Given the description of an element on the screen output the (x, y) to click on. 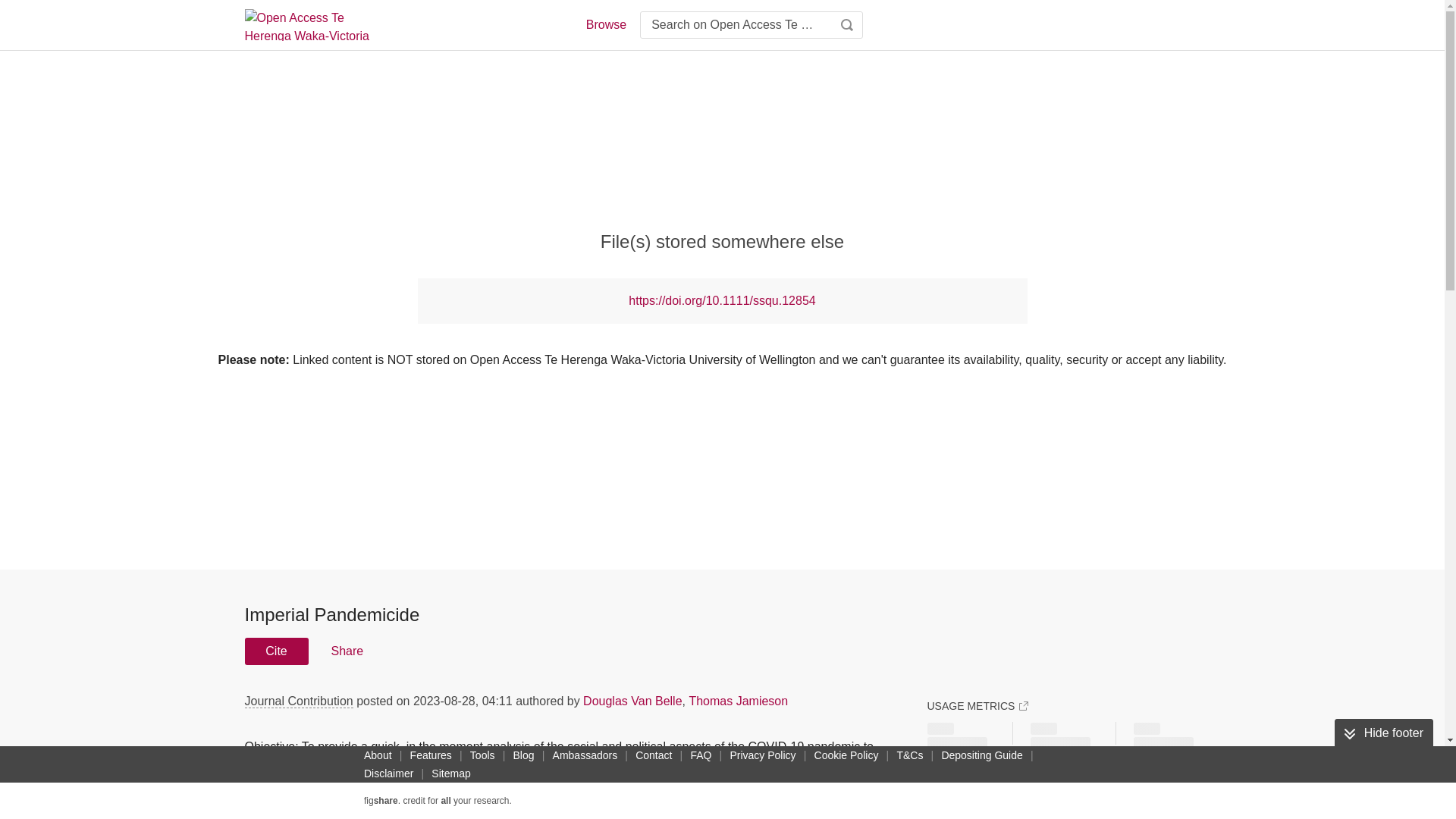
Thomas Jamieson (737, 700)
Share (346, 651)
Blog (523, 755)
Browse (605, 24)
Ambassadors (585, 755)
Cookie Policy (846, 755)
Disclaimer (388, 773)
FAQ (700, 755)
Privacy Policy (762, 755)
Depositing Guide (981, 755)
Features (431, 755)
Cite (275, 651)
About (377, 755)
USAGE METRICS (976, 705)
Hide footer (1383, 733)
